Given the description of an element on the screen output the (x, y) to click on. 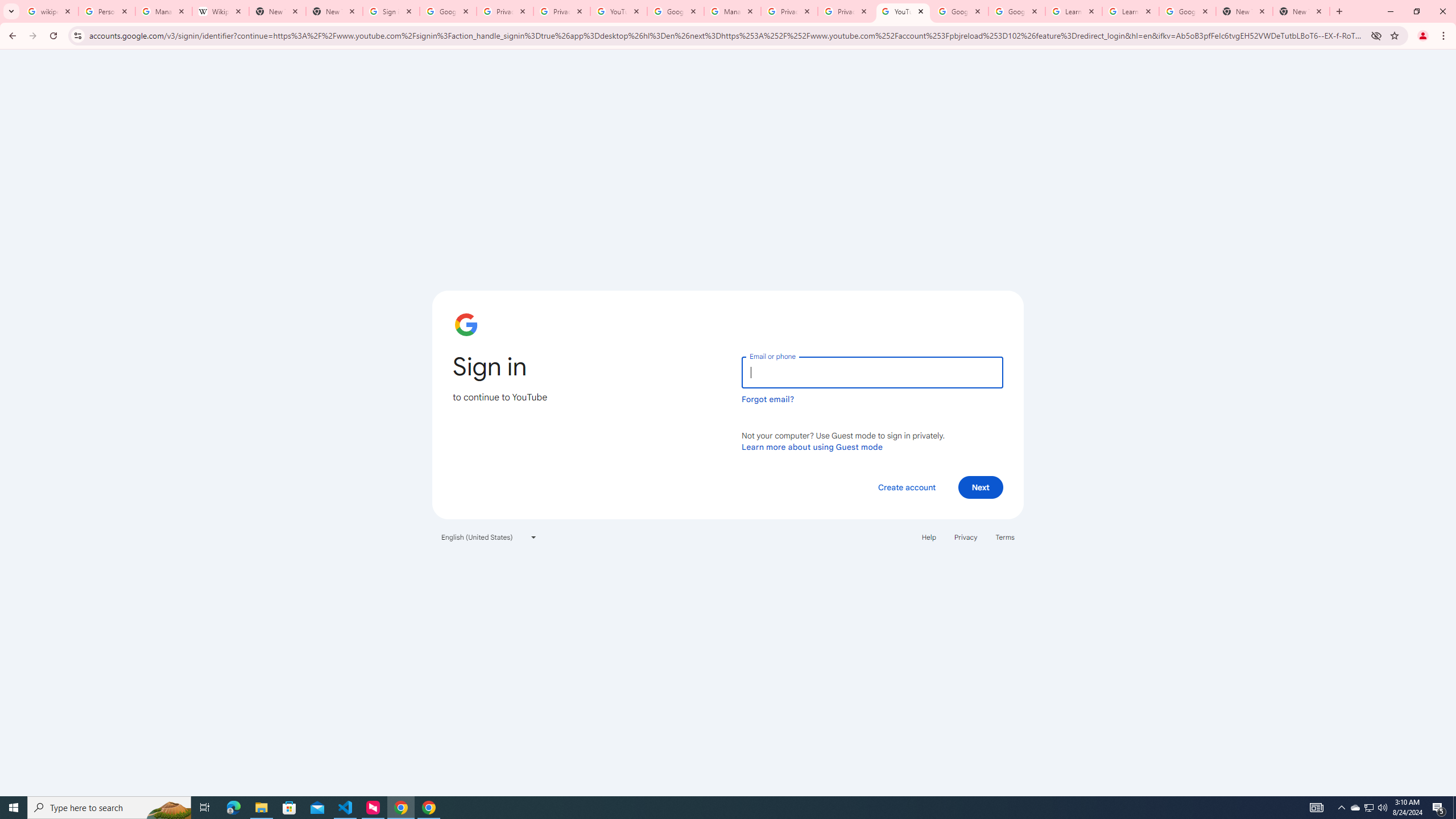
YouTube (902, 11)
Next (980, 486)
Email or phone (871, 372)
New Tab (334, 11)
New Tab (1244, 11)
